Given the description of an element on the screen output the (x, y) to click on. 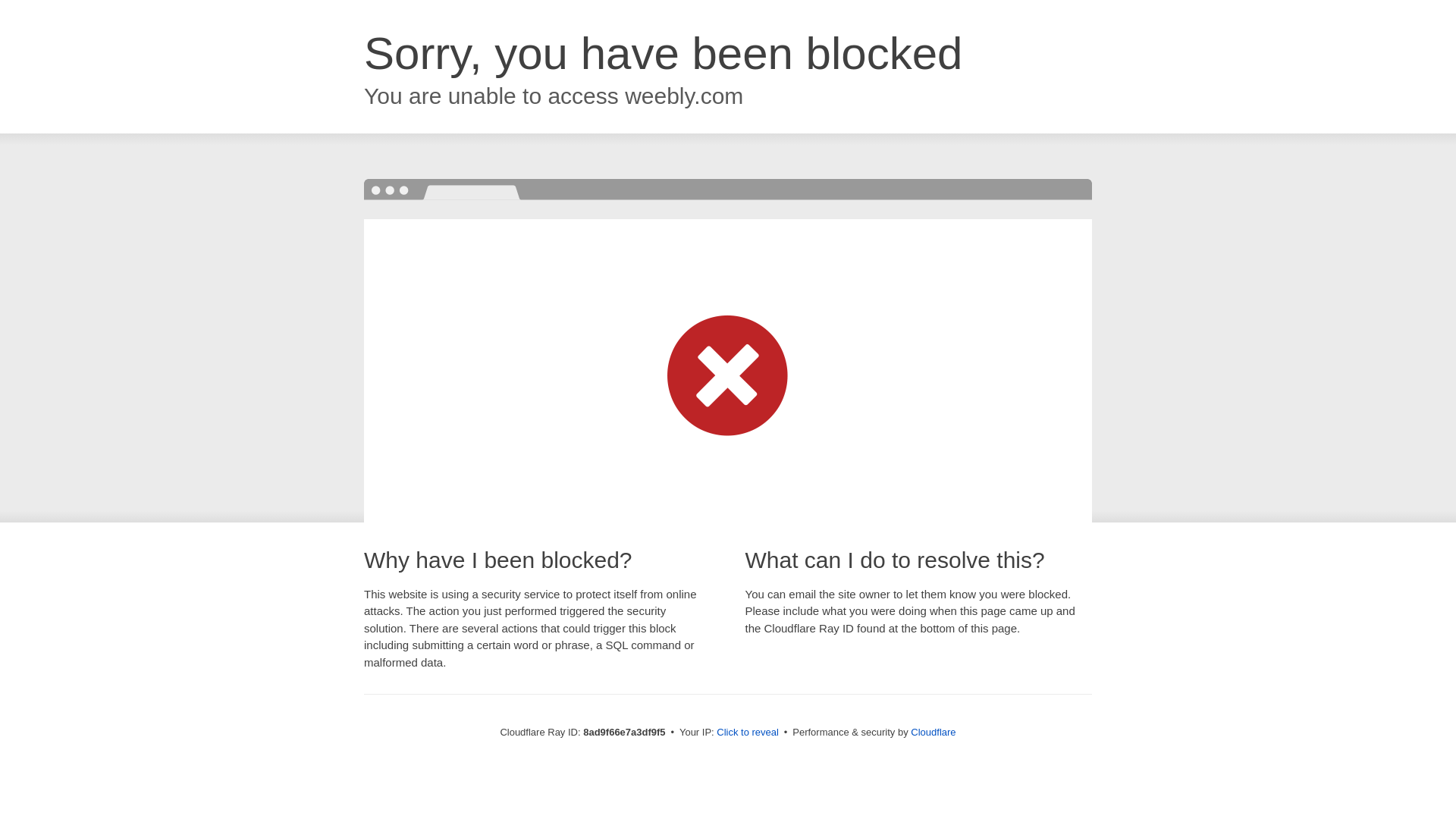
Cloudflare (933, 731)
Click to reveal (747, 732)
